Given the description of an element on the screen output the (x, y) to click on. 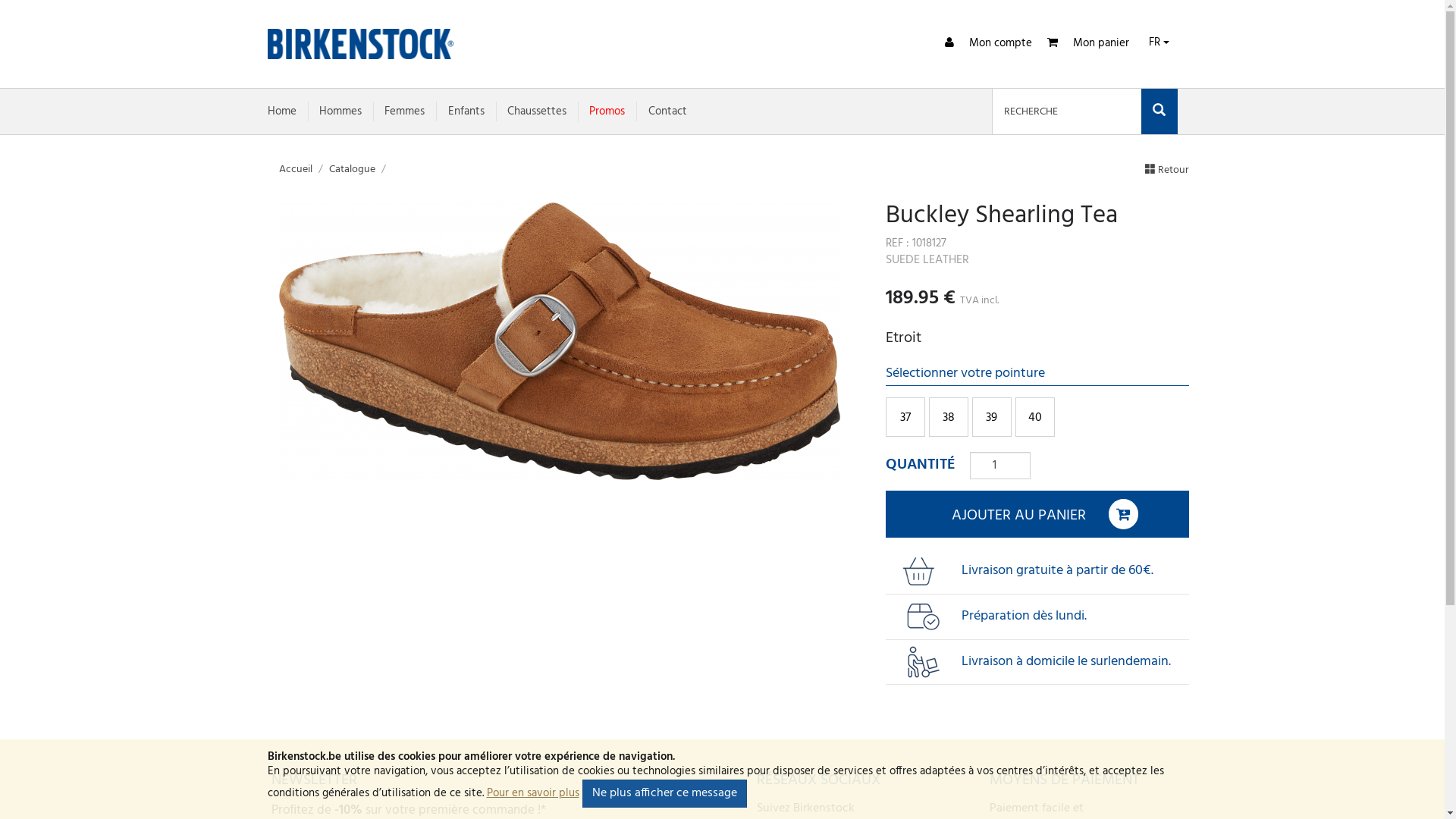
Hommes Element type: text (340, 111)
Home Element type: text (280, 111)
Catalogue Element type: text (352, 169)
Pour en savoir plus Element type: text (532, 793)
AJOUTER AU PANIER Element type: text (1037, 513)
Femmes Element type: text (404, 111)
Mon compte Element type: text (988, 42)
Mon panier Element type: text (1087, 42)
Retour Element type: text (1167, 169)
Enfants Element type: text (466, 111)
Contact Element type: text (667, 111)
FR Element type: text (1158, 41)
Chaussettes Element type: text (536, 111)
Promos Element type: text (606, 111)
Ne plus afficher ce message Element type: text (664, 793)
Accueil Element type: text (295, 169)
